Given the description of an element on the screen output the (x, y) to click on. 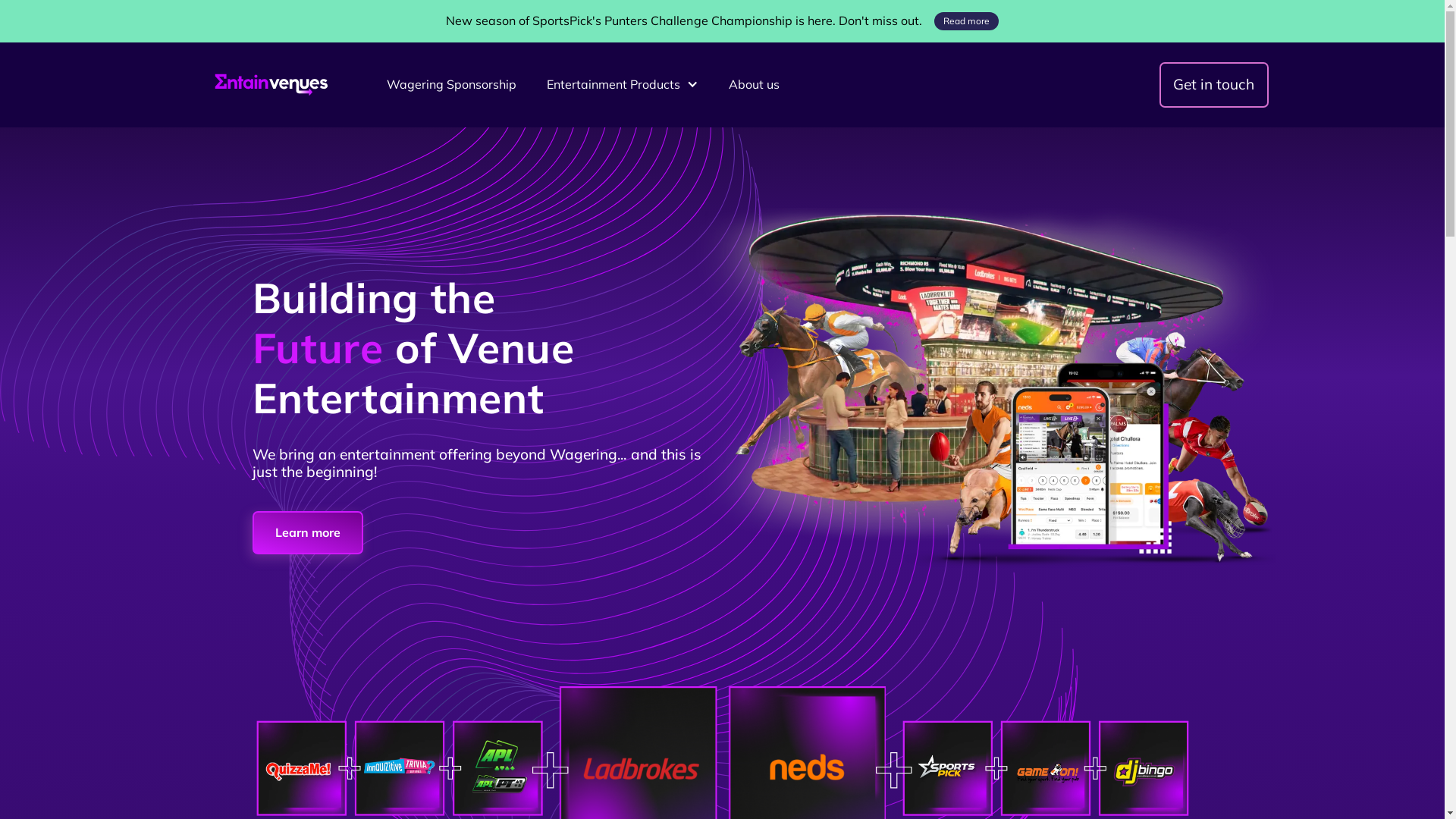
Entertainment Products Element type: text (613, 84)
Wagering Sponsorship Element type: text (451, 84)
Learn more Element type: text (306, 532)
About us Element type: text (753, 84)
Get in touch Element type: text (1213, 84)
Read more Element type: text (966, 21)
